Given the description of an element on the screen output the (x, y) to click on. 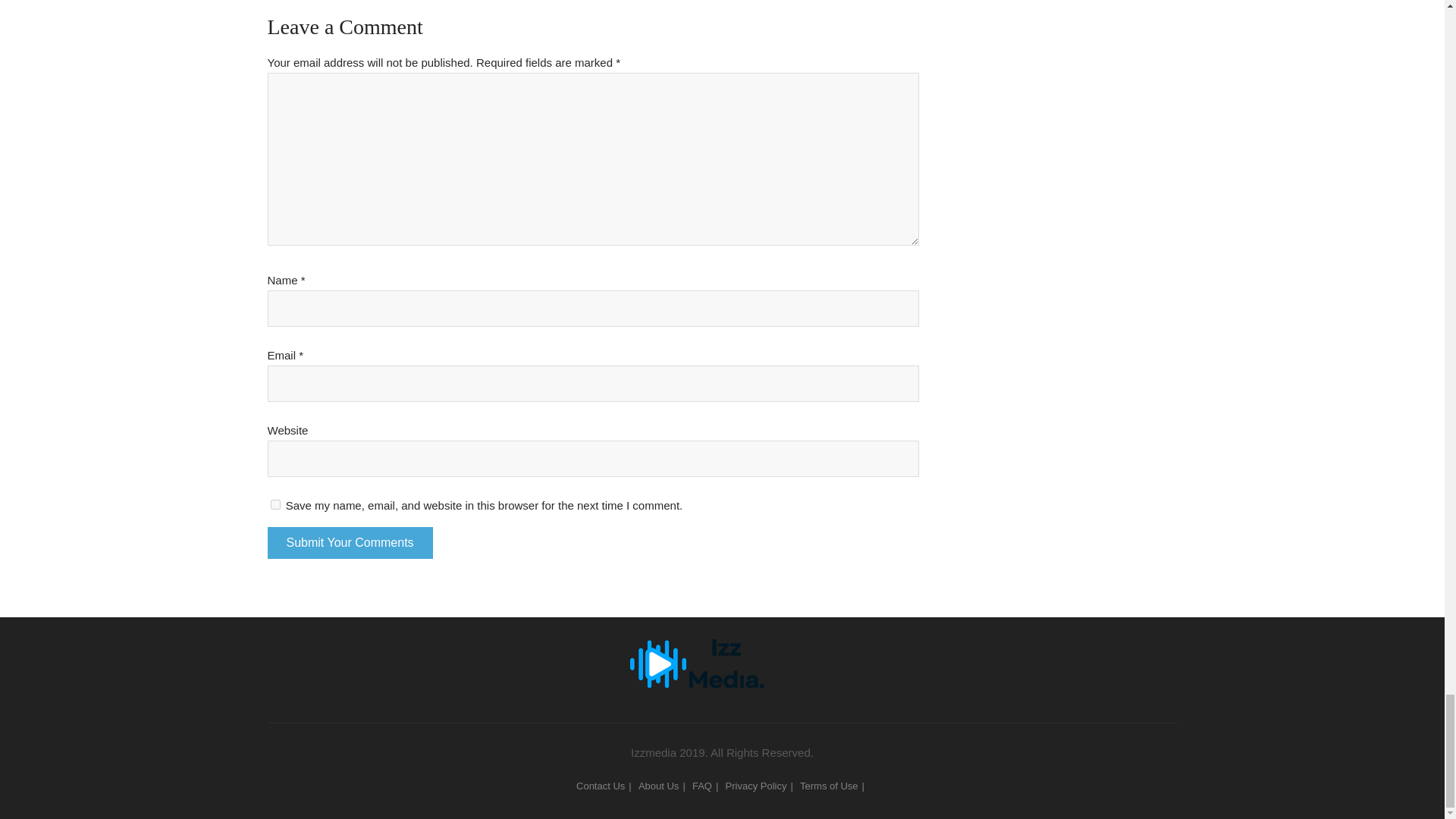
Submit Your Comments (349, 542)
yes (274, 504)
Submit Your Comments (349, 542)
Izzmedia (722, 651)
